Given the description of an element on the screen output the (x, y) to click on. 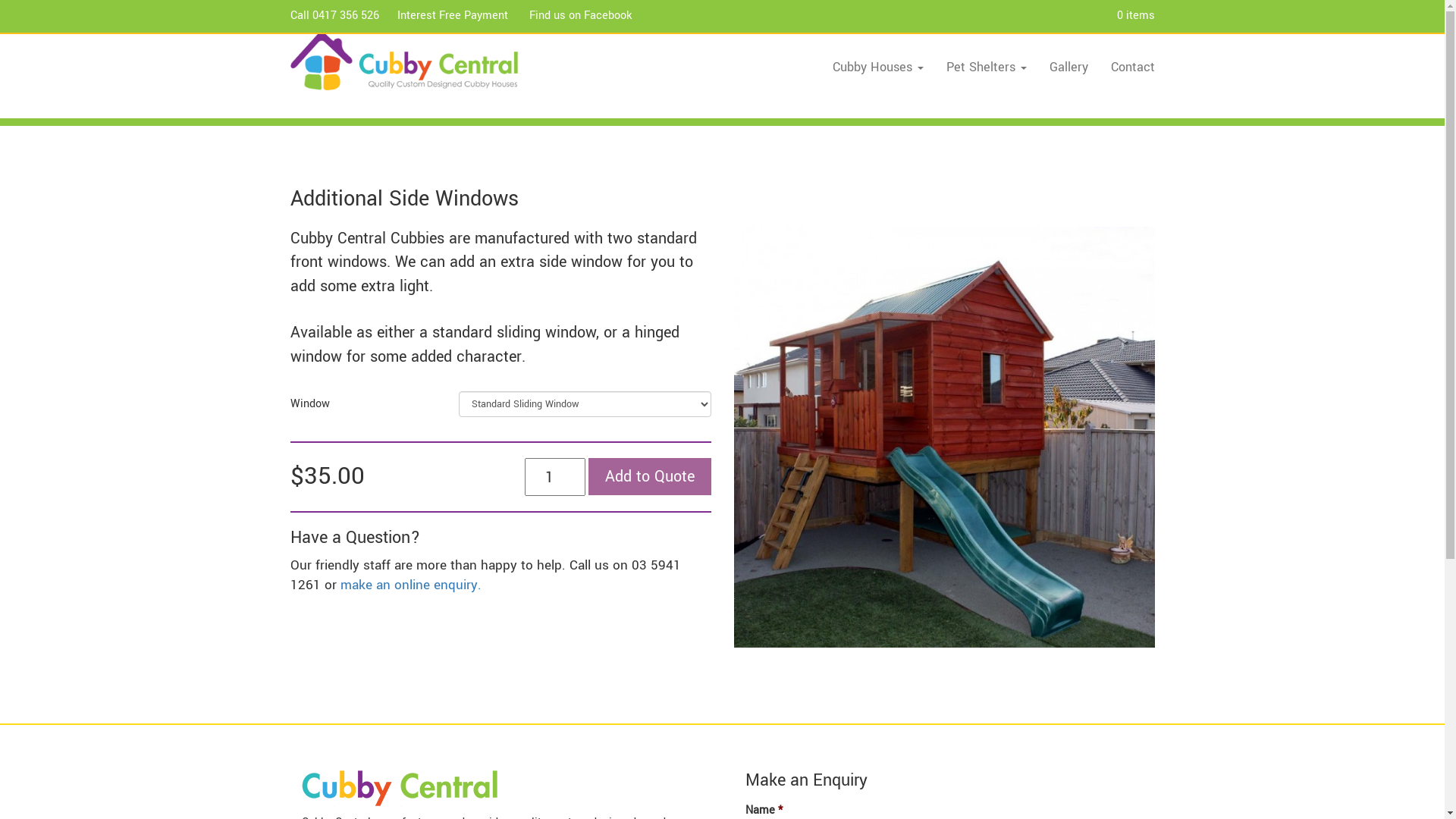
Interest Free Payment Element type: text (452, 15)
Qty Element type: hover (554, 476)
Gallery Element type: text (1067, 67)
Pet Shelters Element type: text (985, 67)
Cubby Houses Element type: text (877, 67)
Add to Quote Element type: text (649, 476)
Find us on Facebook Element type: text (580, 15)
make an online enquiry. Element type: text (409, 584)
Call 0417 356 526 Element type: text (333, 15)
0 items Element type: text (1135, 15)
Contact Element type: text (1132, 67)
